Given the description of an element on the screen output the (x, y) to click on. 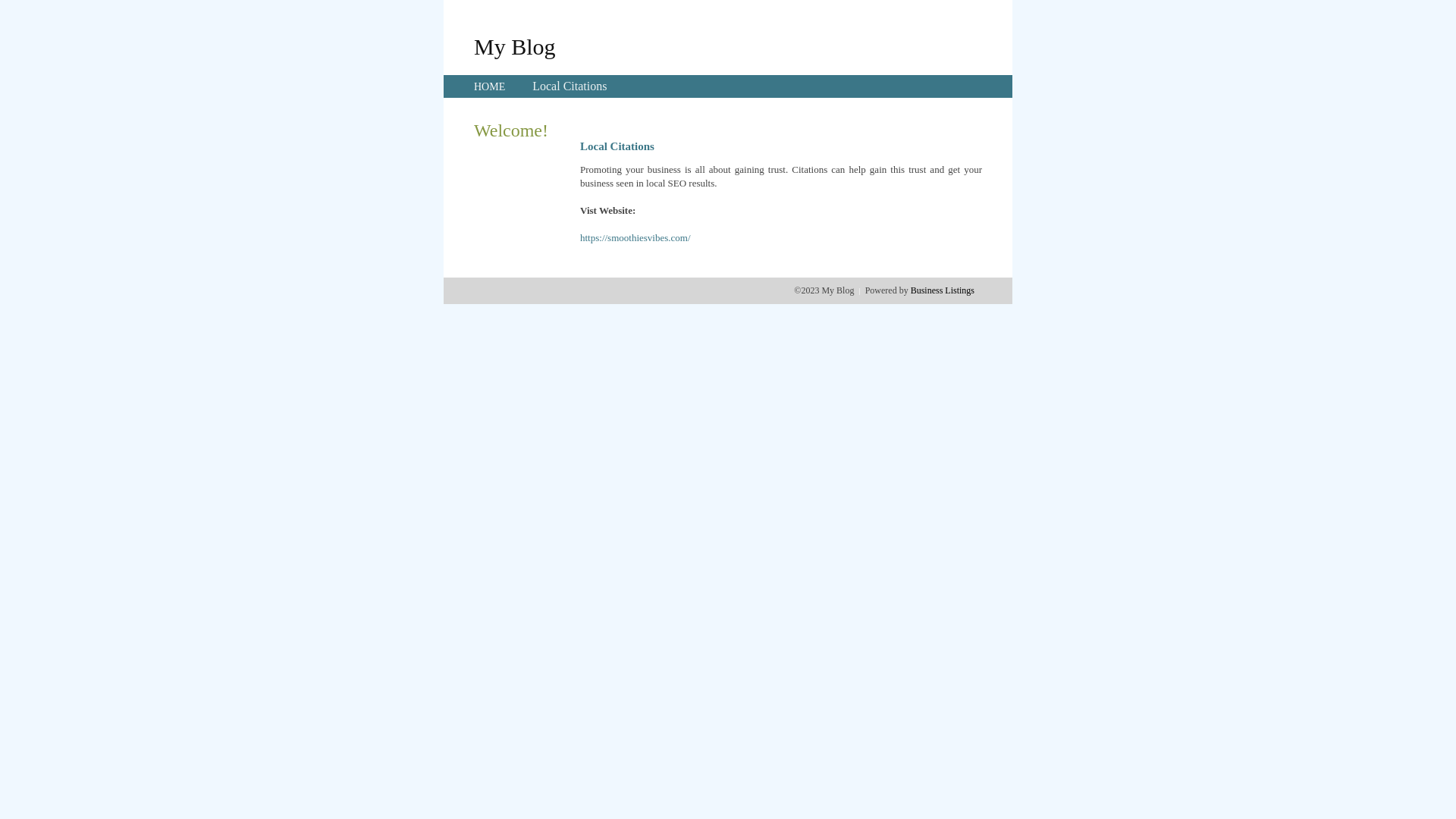
Business Listings Element type: text (942, 290)
HOME Element type: text (489, 86)
Local Citations Element type: text (569, 85)
https://smoothiesvibes.com/ Element type: text (635, 237)
My Blog Element type: text (514, 46)
